Given the description of an element on the screen output the (x, y) to click on. 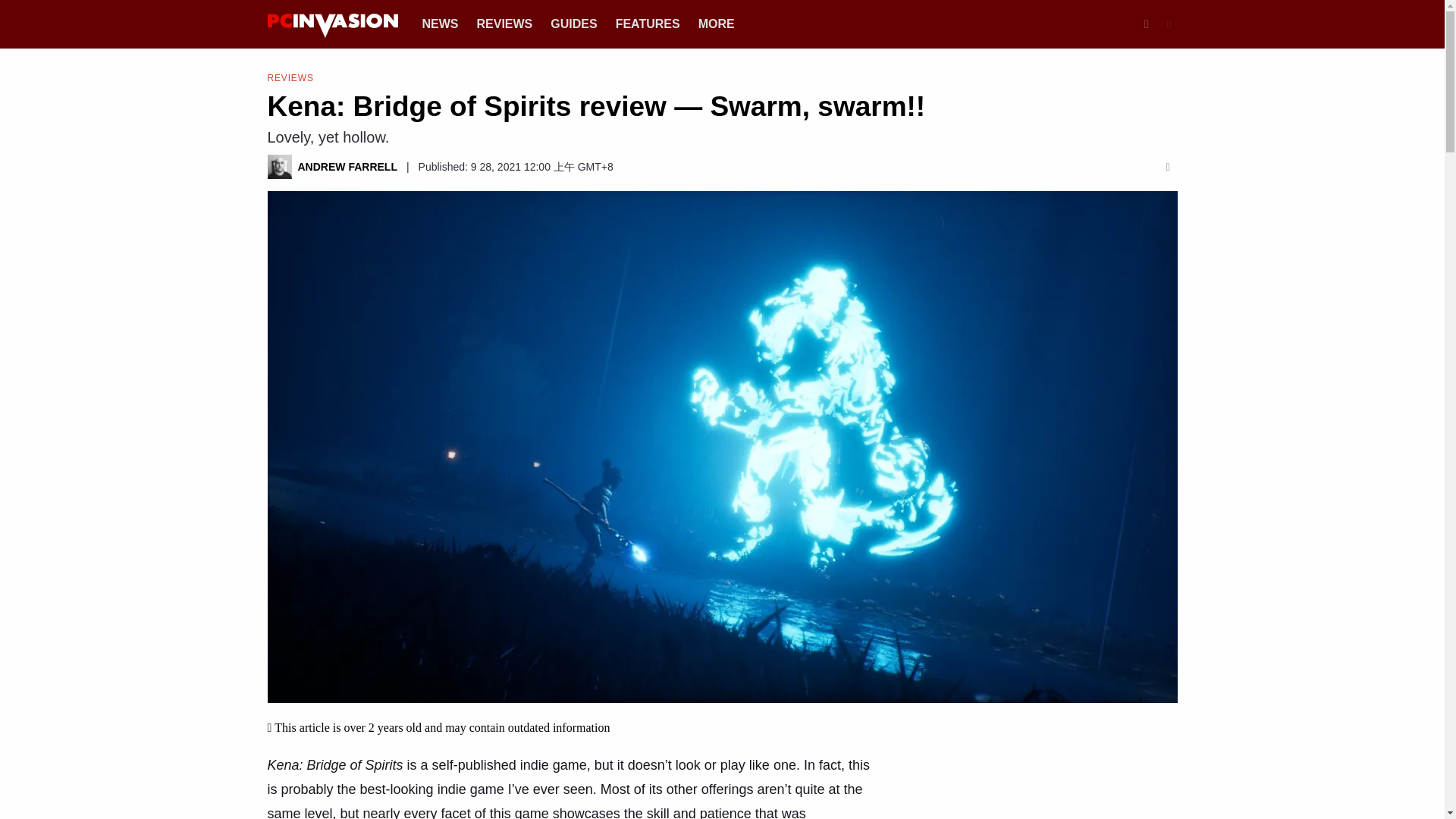
GUIDES (573, 23)
REVIEWS (289, 77)
FEATURES (647, 23)
REVIEWS (504, 23)
NEWS (440, 23)
